Given the description of an element on the screen output the (x, y) to click on. 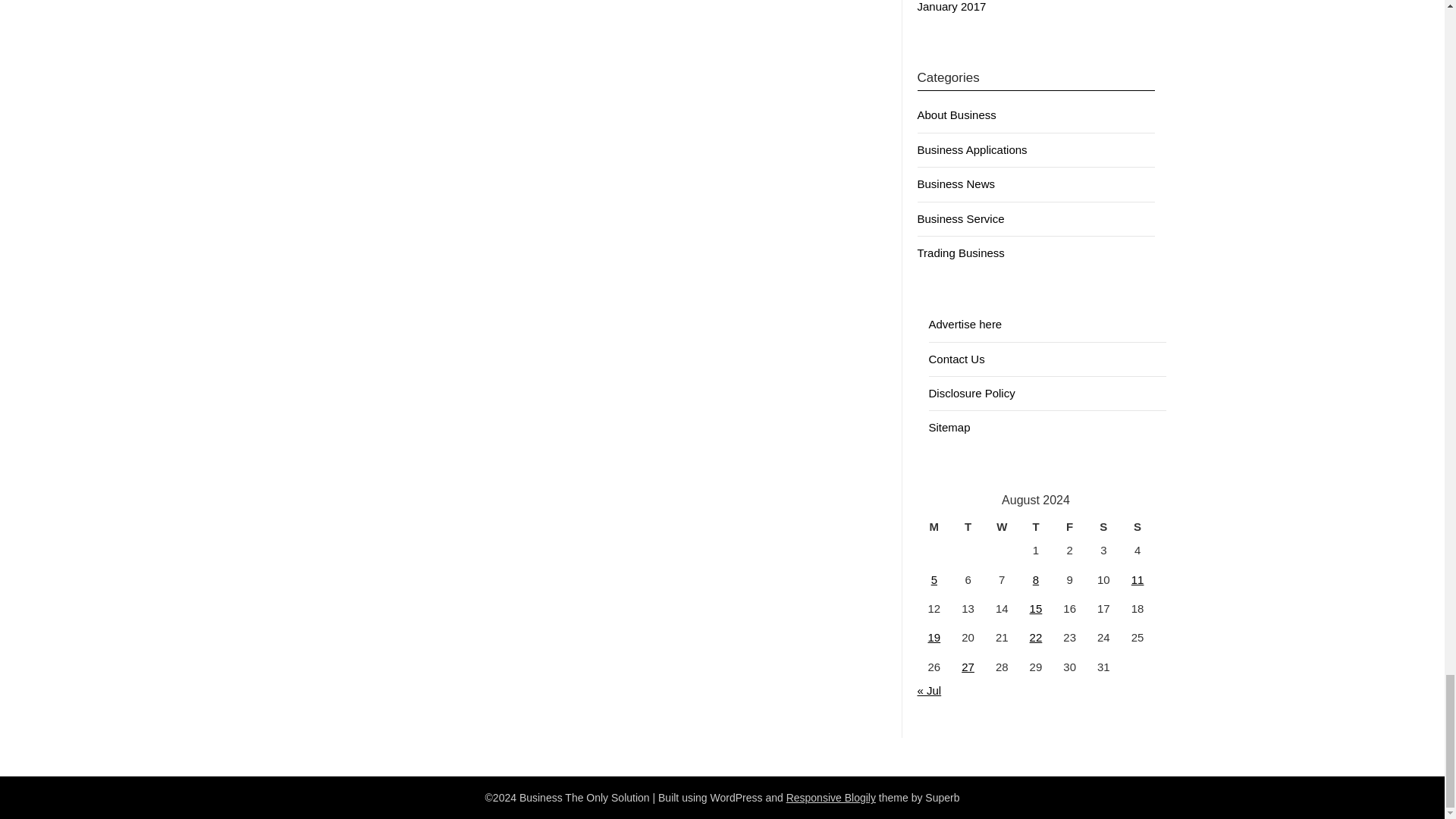
Sunday (1137, 526)
Saturday (1103, 526)
Friday (1069, 526)
Monday (934, 526)
Wednesday (1002, 526)
Thursday (1035, 526)
Tuesday (967, 526)
